Given the description of an element on the screen output the (x, y) to click on. 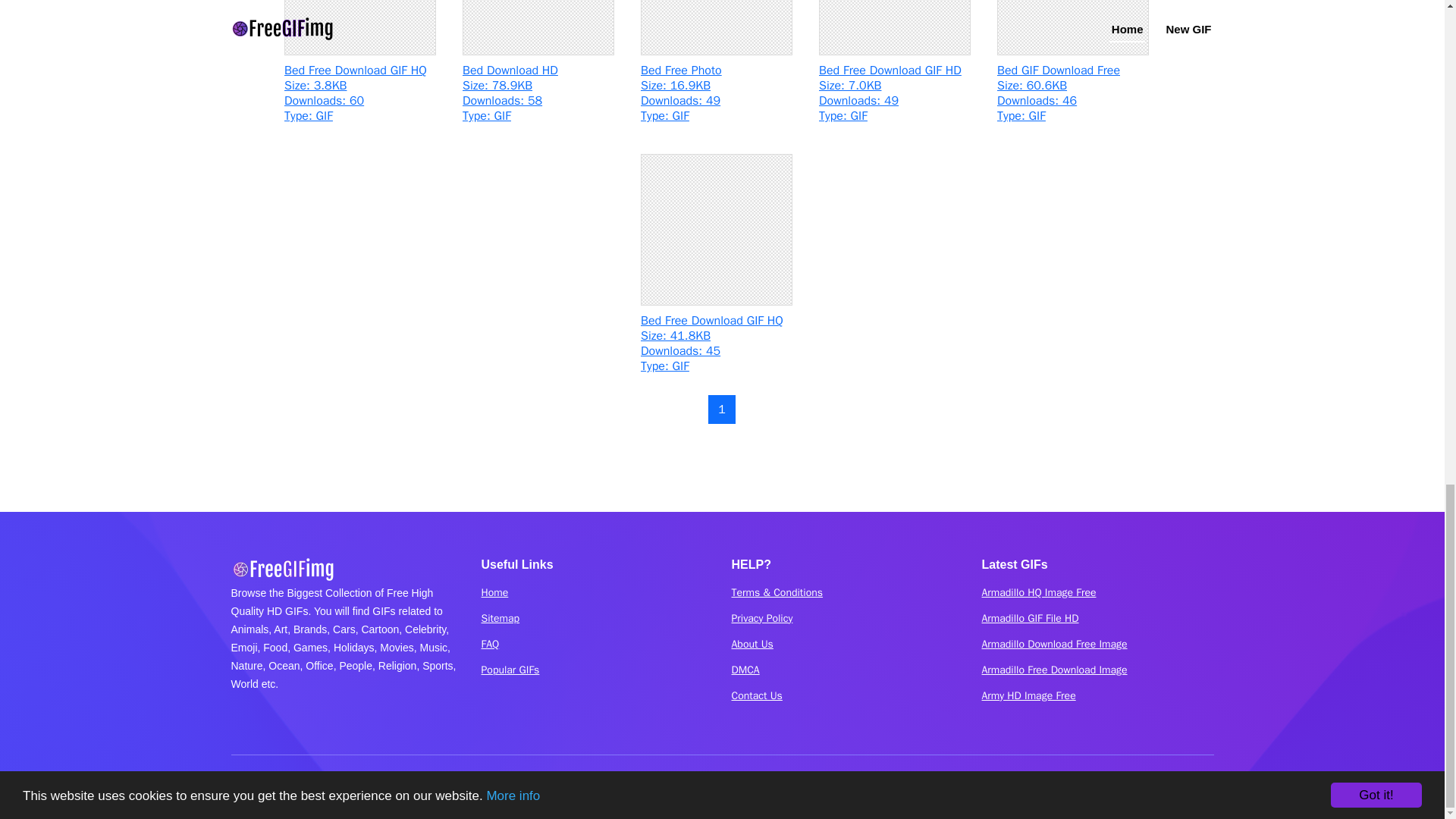
DMCA (744, 670)
Sitemap (1072, 67)
Popular GIFs (359, 67)
FAQ (716, 67)
Privacy Policy (499, 618)
1 (509, 670)
